Given the description of an element on the screen output the (x, y) to click on. 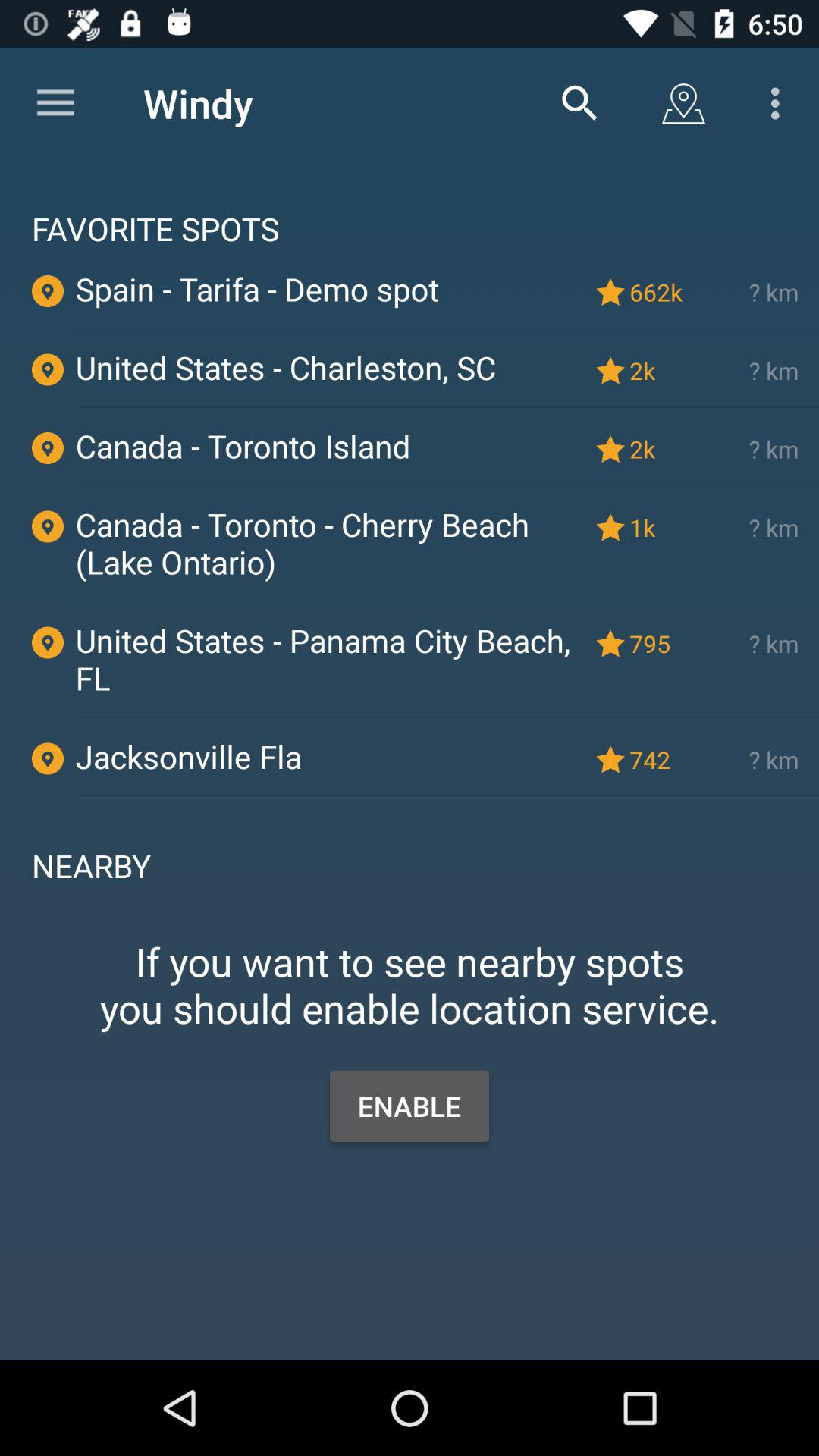
open the item next to ? km icon (659, 643)
